Given the description of an element on the screen output the (x, y) to click on. 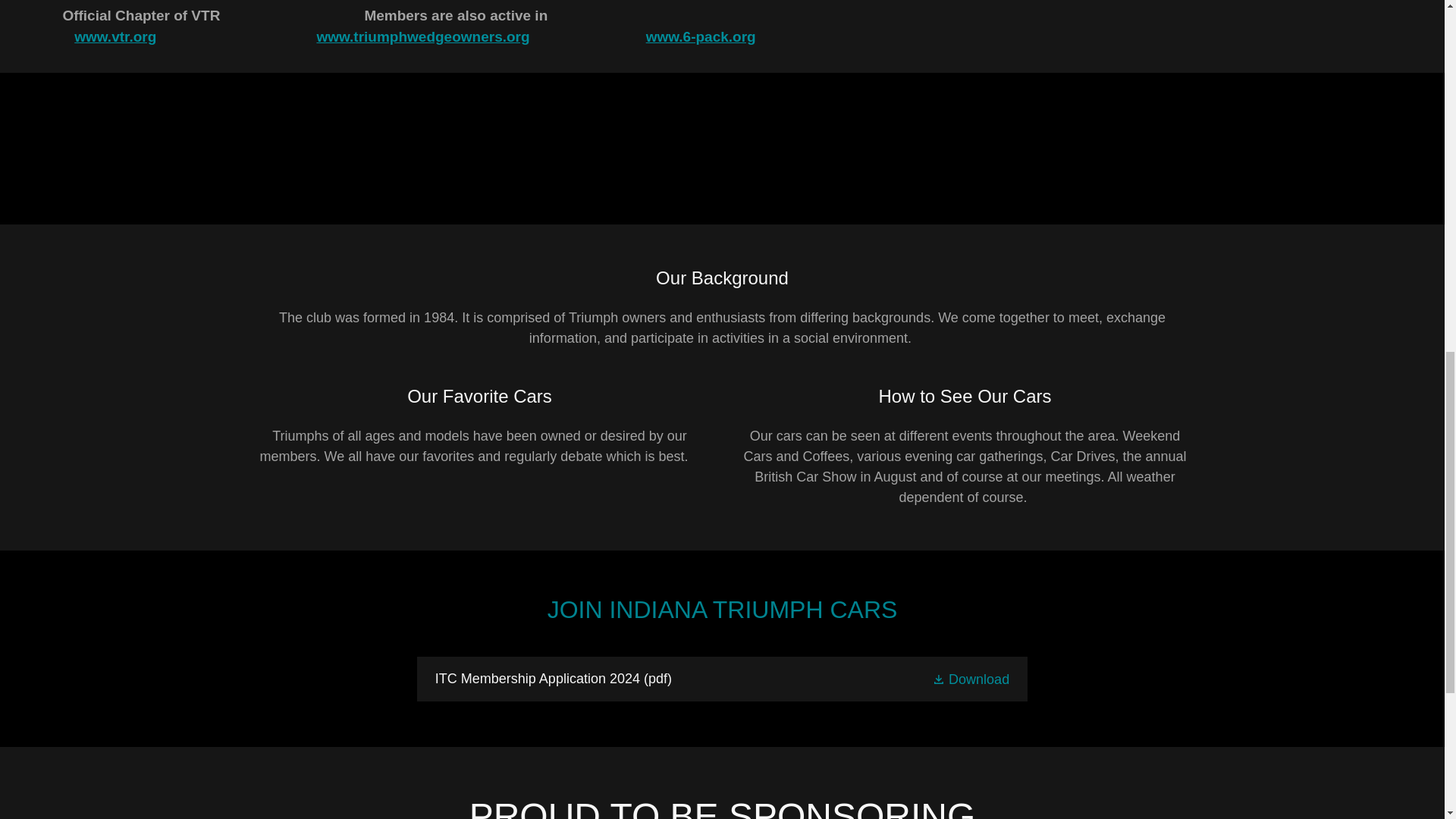
www.triumphwedgeowners.org (422, 36)
www.6-pack.org (700, 36)
www.vtr.org (114, 36)
